Given the description of an element on the screen output the (x, y) to click on. 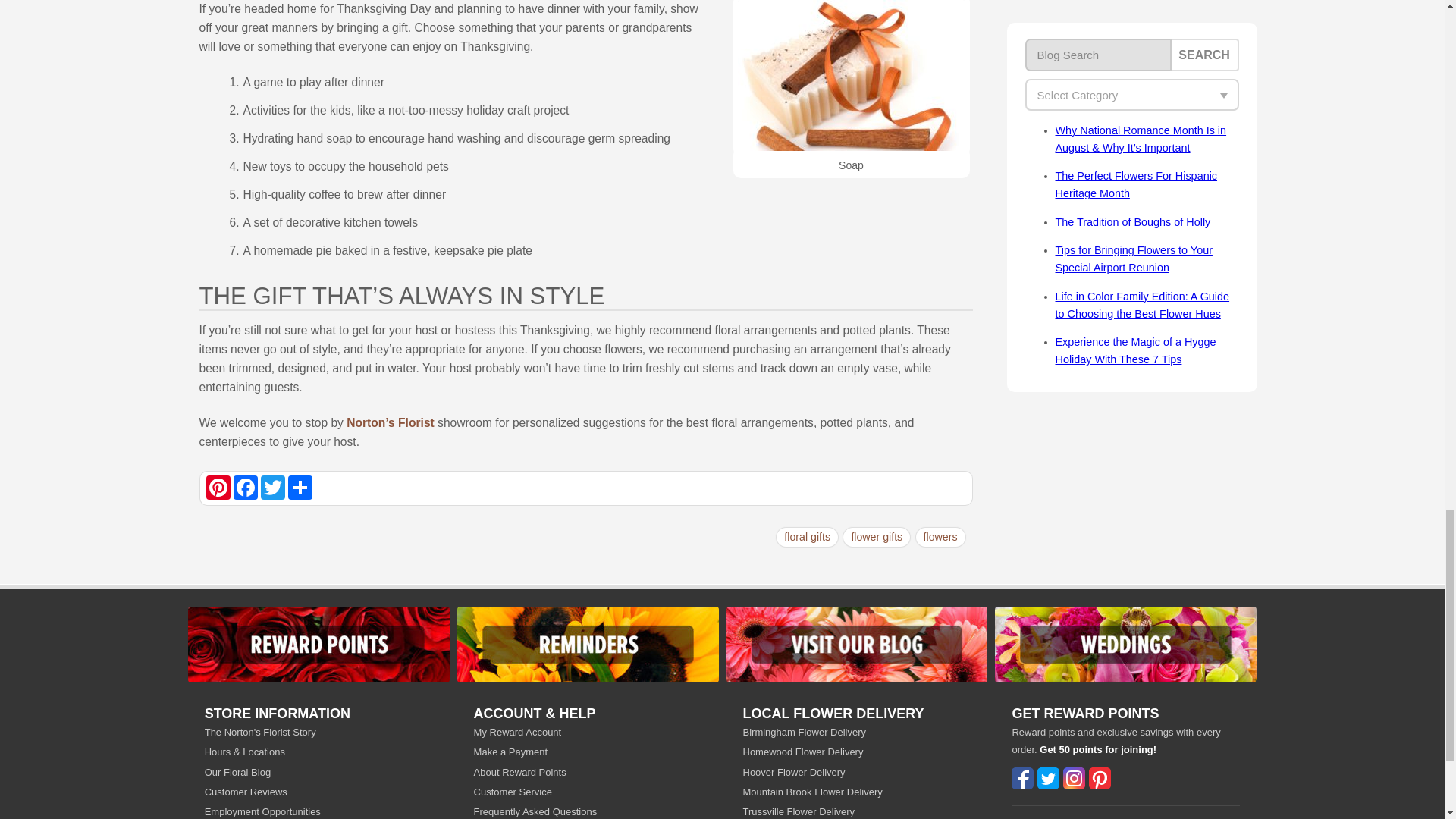
Twitter (272, 487)
Pinterest (218, 487)
Twitter (272, 487)
flowers (940, 536)
Facebook (245, 487)
flower gifts (876, 536)
Pinterest (218, 487)
floral gifts (807, 536)
Facebook (245, 487)
